Given the description of an element on the screen output the (x, y) to click on. 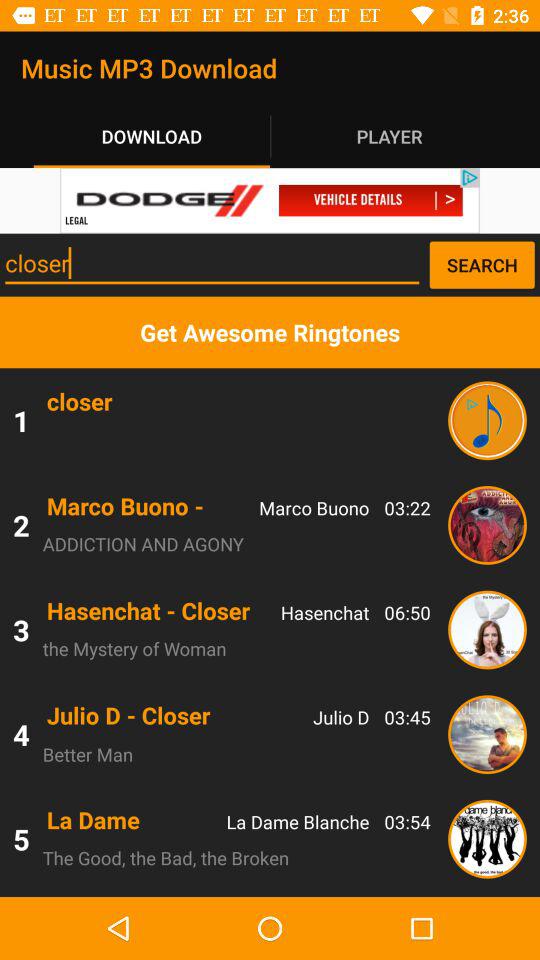
click on advertisement (270, 200)
